Given the description of an element on the screen output the (x, y) to click on. 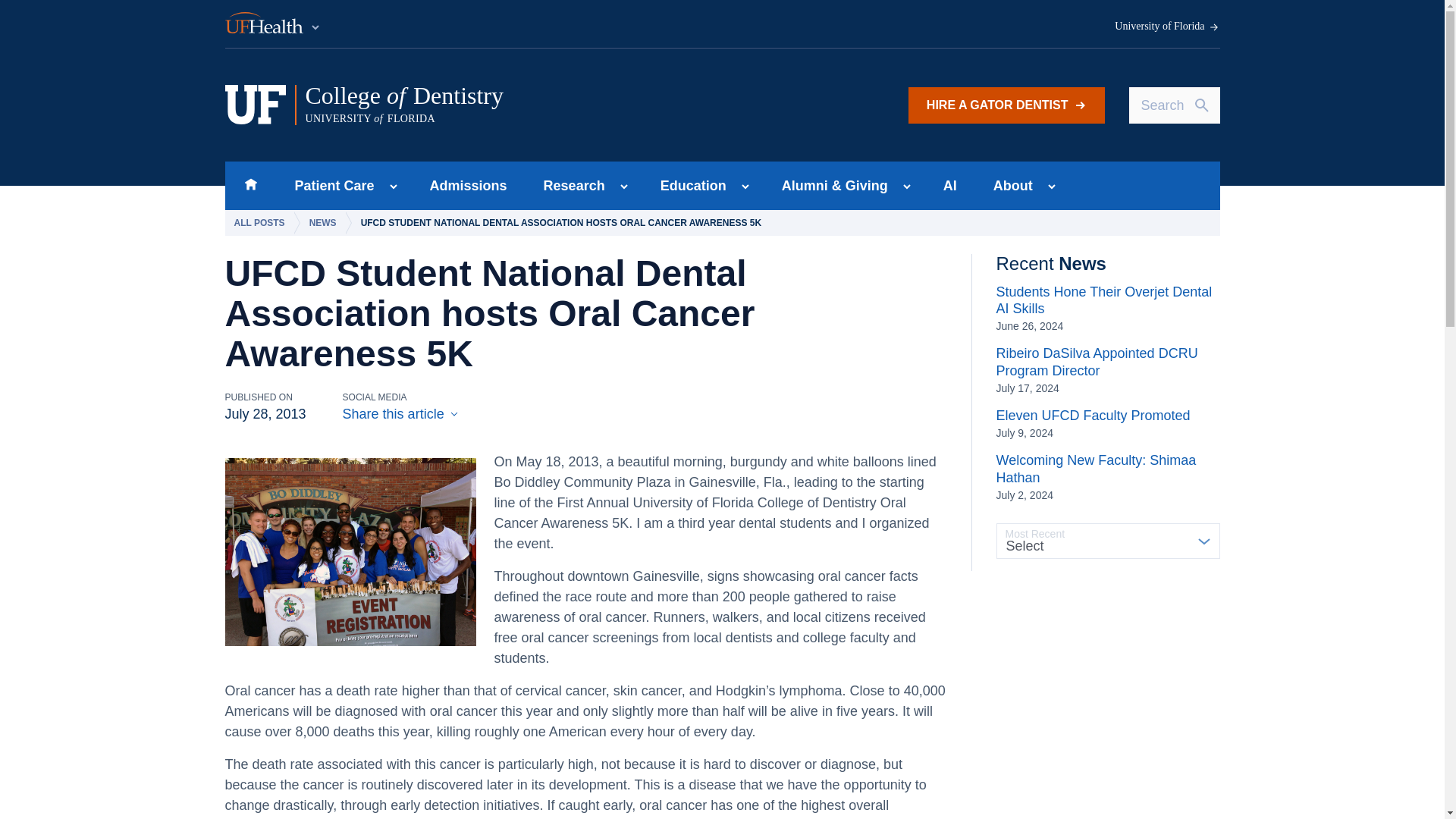
University of Florida (1167, 26)
UF Health (272, 24)
Patient Care (329, 185)
Admissions (468, 185)
Research (515, 105)
HIRE A GATOR DENTIST (569, 185)
Skip to main content (1006, 104)
